Given the description of an element on the screen output the (x, y) to click on. 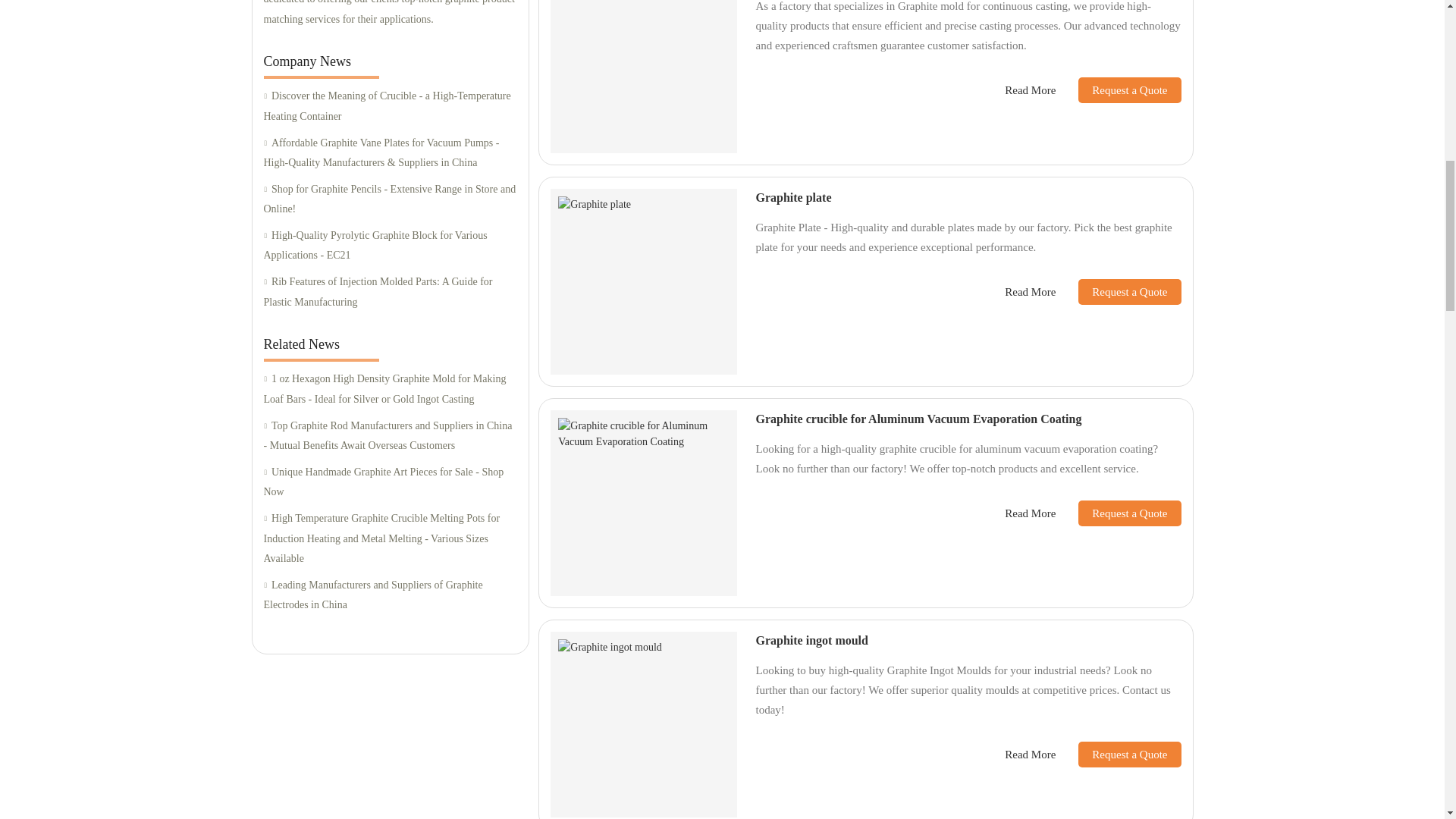
Unique Handmade Graphite Art Pieces for Sale - Shop Now (389, 482)
